Given the description of an element on the screen output the (x, y) to click on. 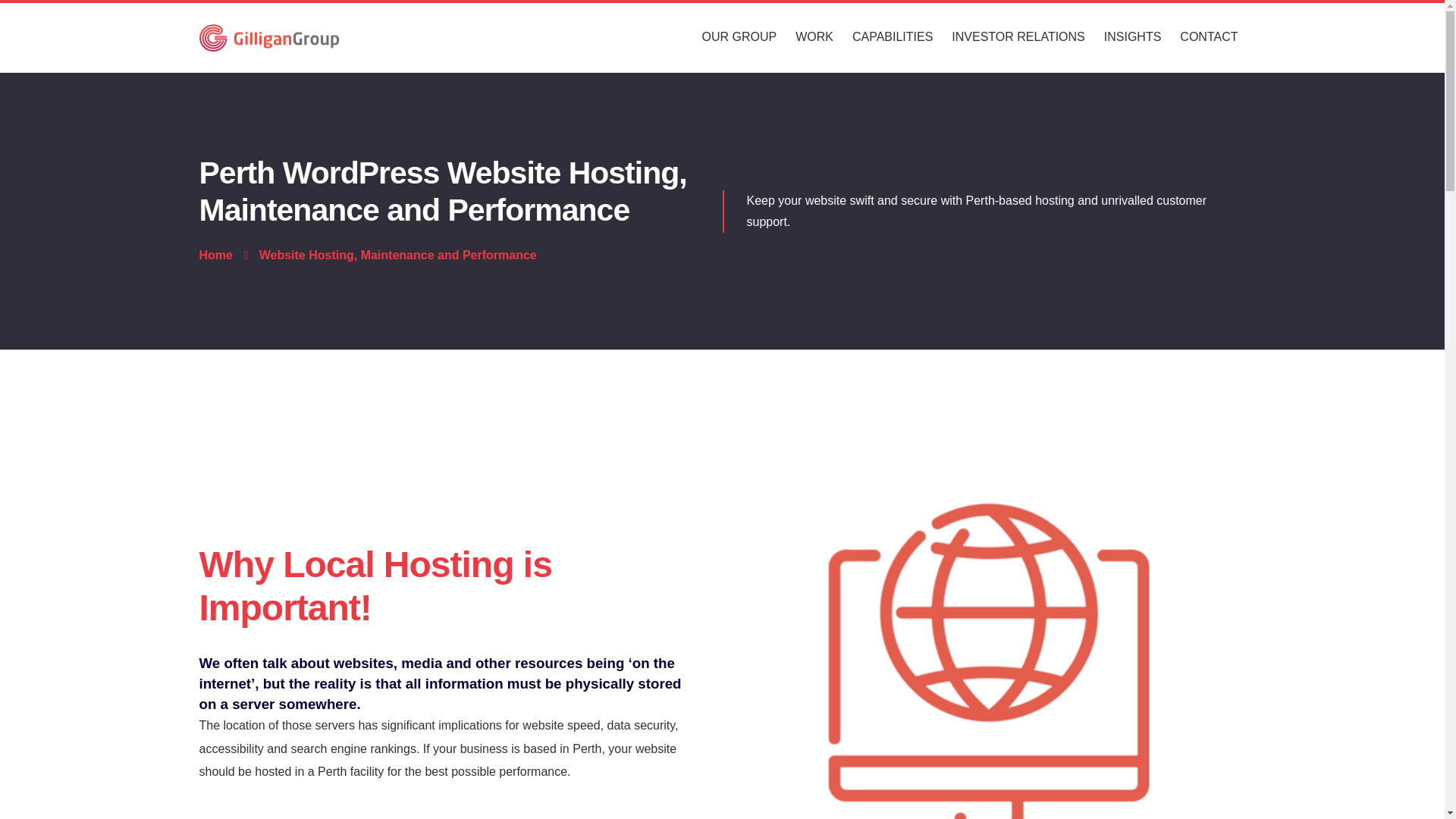
OUR GROUP Element type: text (738, 37)
Home Element type: text (215, 254)
CONTACT Element type: text (1208, 37)
CAPABILITIES Element type: text (892, 37)
WORK Element type: text (813, 37)
INVESTOR RELATIONS Element type: text (1018, 37)
INSIGHTS Element type: text (1132, 37)
